Given the description of an element on the screen output the (x, y) to click on. 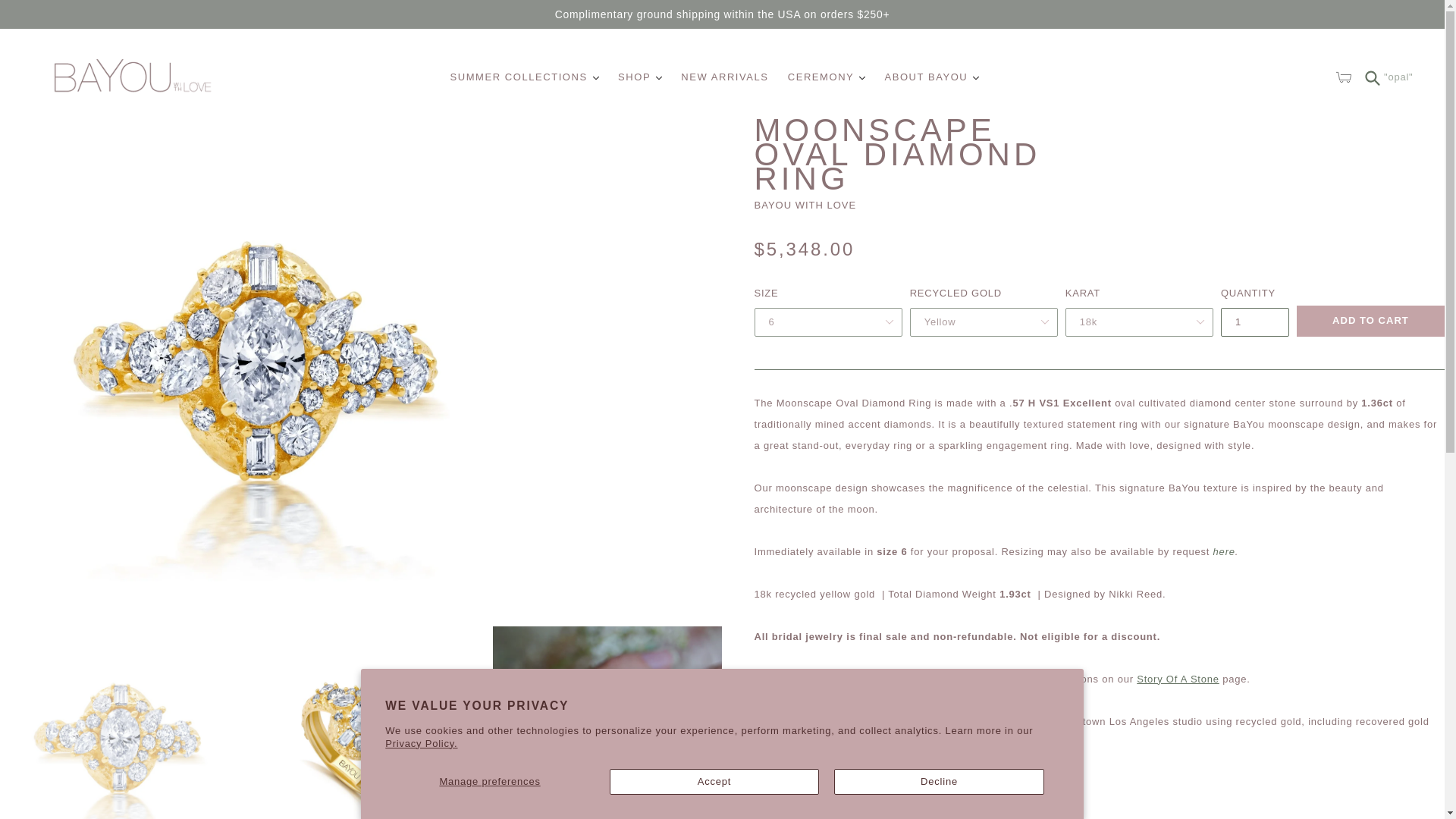
Decline (938, 781)
Privacy Policy. (421, 743)
1 (1254, 321)
Manage preferences (489, 781)
Accept (714, 781)
